Given the description of an element on the screen output the (x, y) to click on. 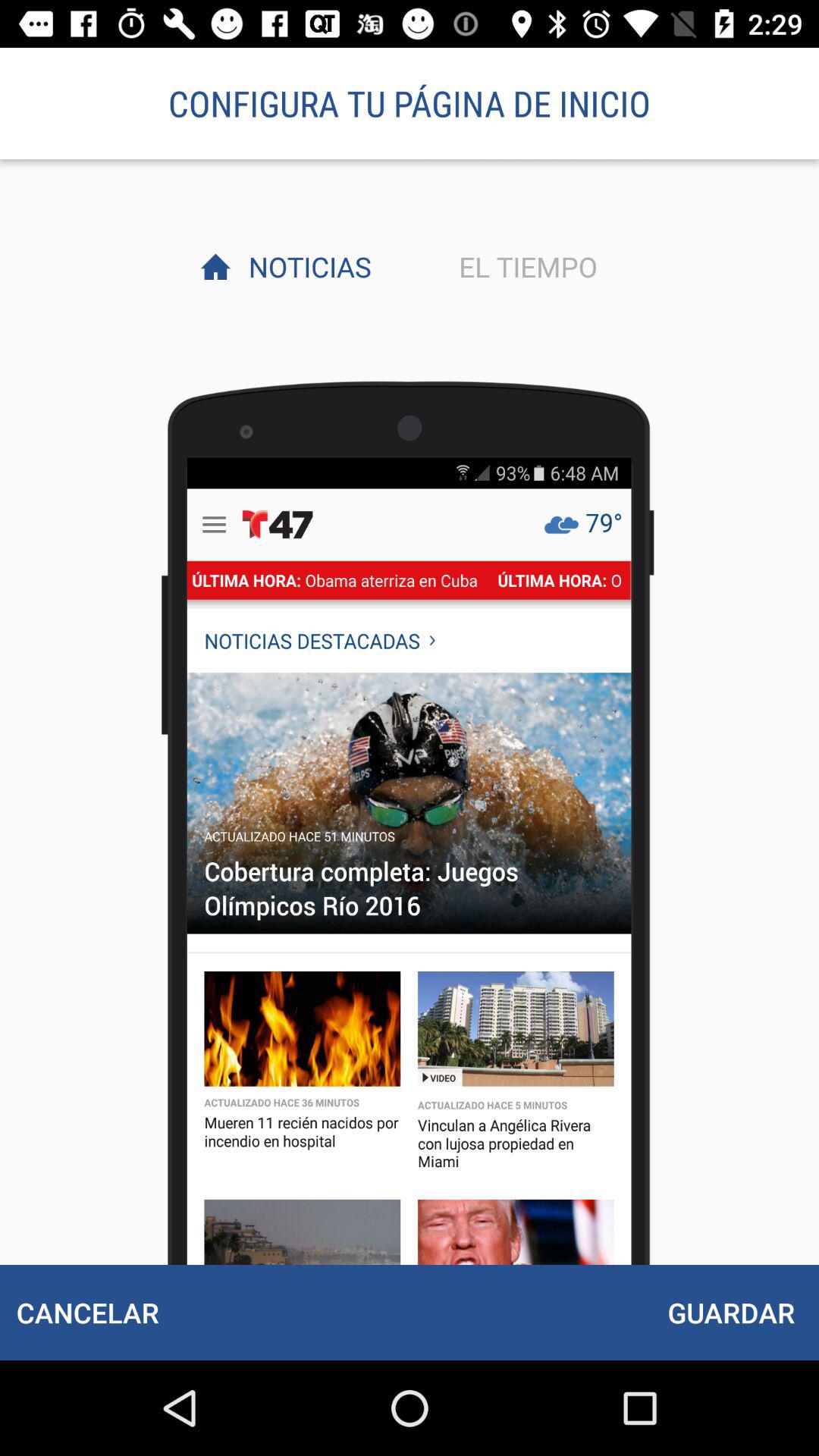
scroll until noticias (305, 266)
